Given the description of an element on the screen output the (x, y) to click on. 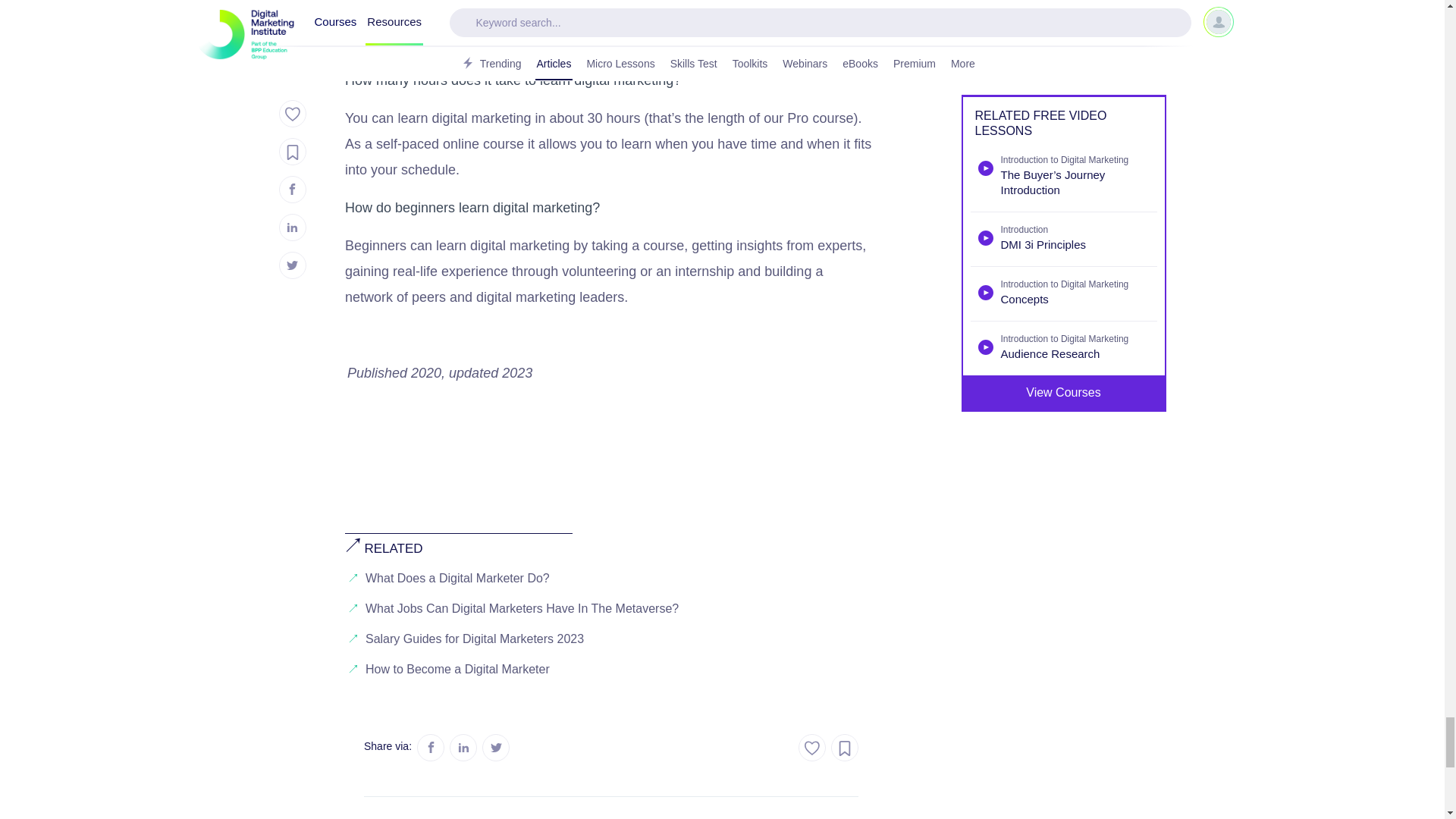
Click to share this post on Twitter (495, 747)
